Given the description of an element on the screen output the (x, y) to click on. 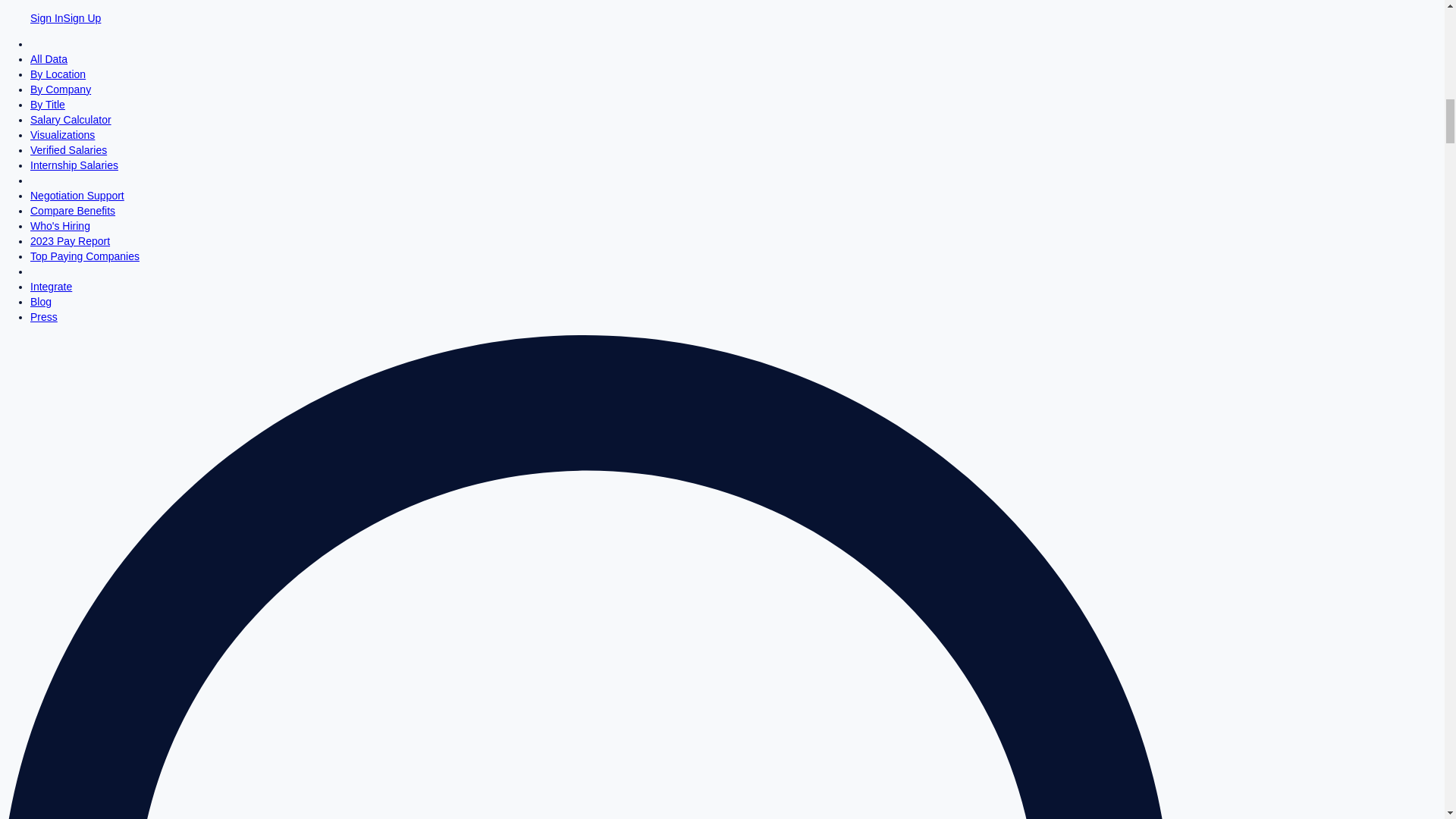
Blog (40, 301)
Integrate (50, 286)
Top Paying Companies (84, 256)
Salary Calculator (71, 119)
By Company (60, 89)
By Location (57, 73)
Press (44, 316)
Who's Hiring (60, 225)
2023 Pay Report (70, 241)
Visualizations (62, 134)
Sign Up (82, 18)
Sign In (47, 18)
Verified Salaries (68, 150)
Negotiation Support (76, 195)
All Data (48, 59)
